Given the description of an element on the screen output the (x, y) to click on. 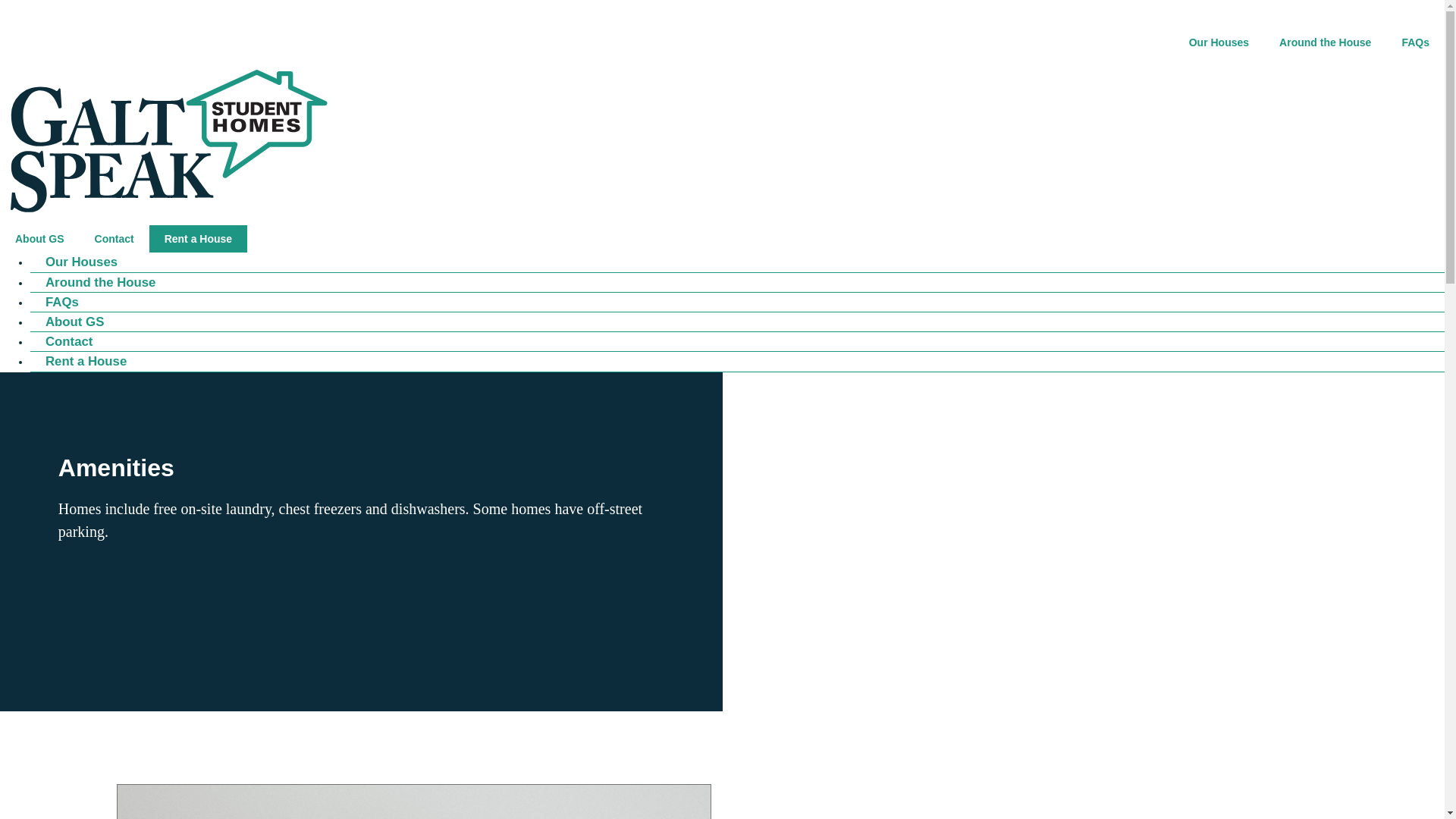
Around the House (92, 282)
Our Houses (73, 261)
Around the House (1324, 42)
About GS (40, 238)
Rent a House (198, 238)
Rent a House (78, 360)
Contact (61, 341)
Contact (114, 238)
About GS (66, 321)
FAQs (54, 301)
Our Houses (1218, 42)
